Given the description of an element on the screen output the (x, y) to click on. 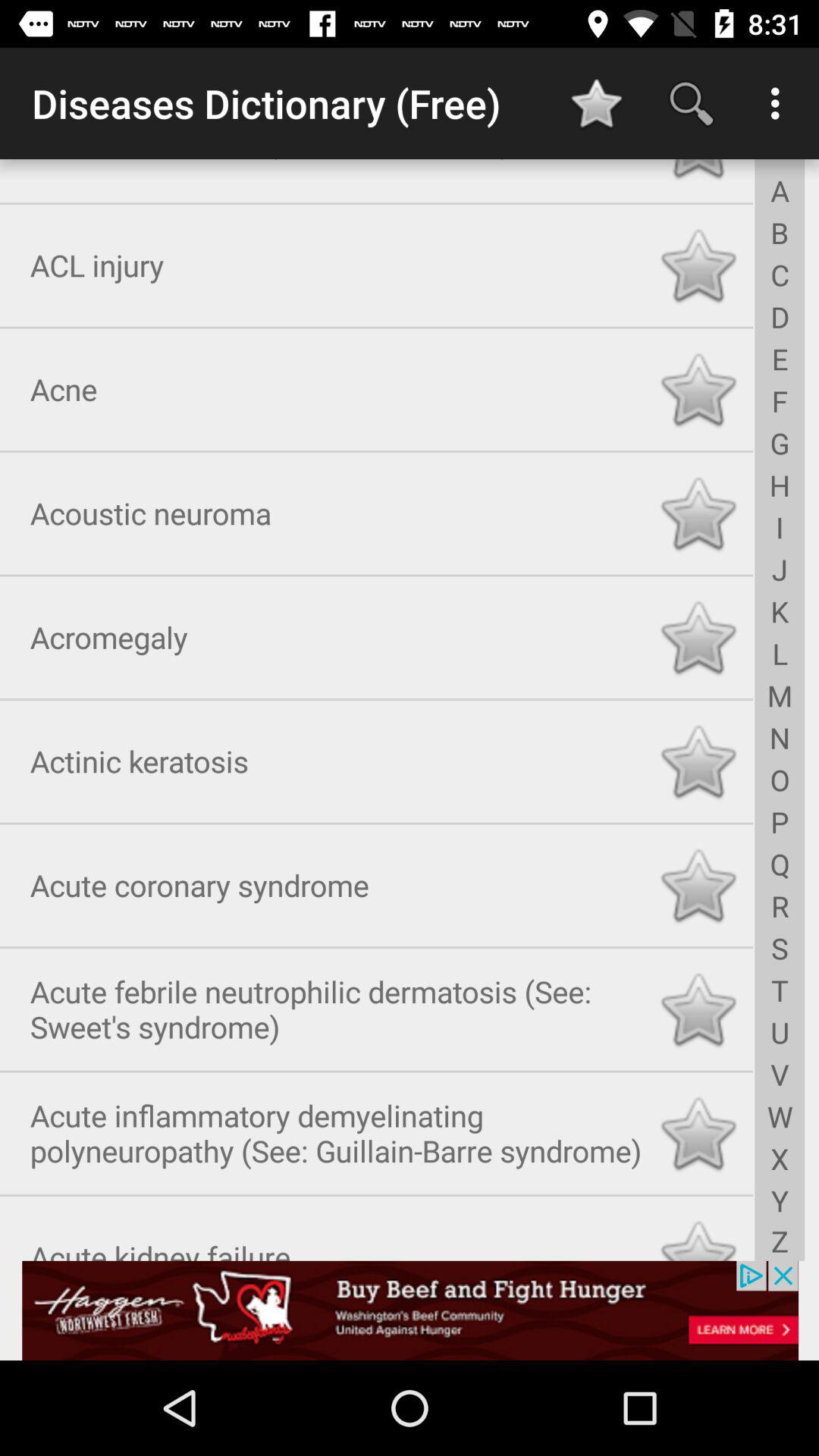
shows the favourite option (697, 262)
